Given the description of an element on the screen output the (x, y) to click on. 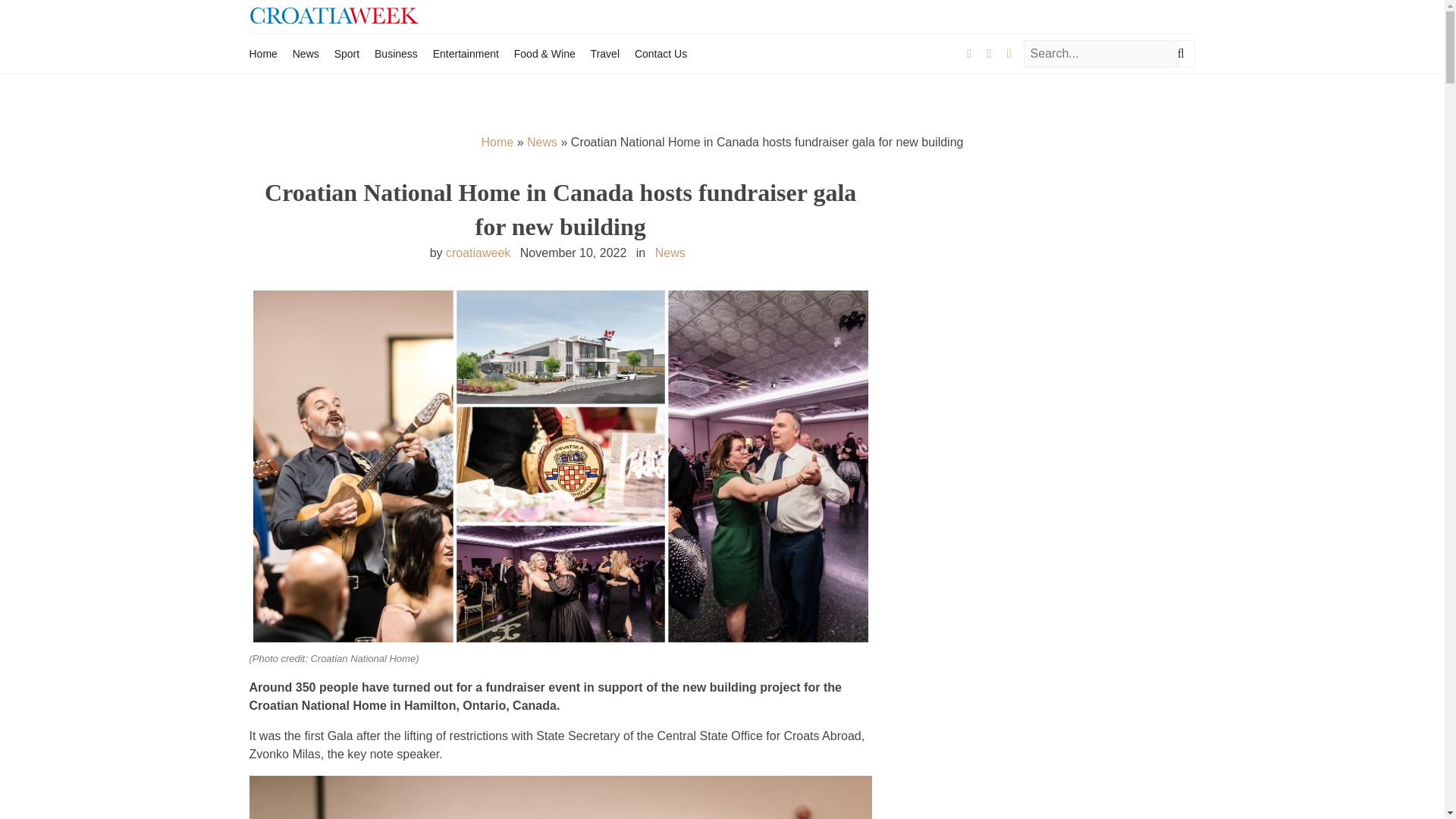
Entertainment (465, 53)
Sport (346, 53)
Contact Us (660, 53)
croatiaweek (478, 252)
News (305, 53)
News (542, 141)
News (670, 252)
Home (497, 141)
Travel (605, 53)
Business (395, 53)
Home (262, 53)
